Given the description of an element on the screen output the (x, y) to click on. 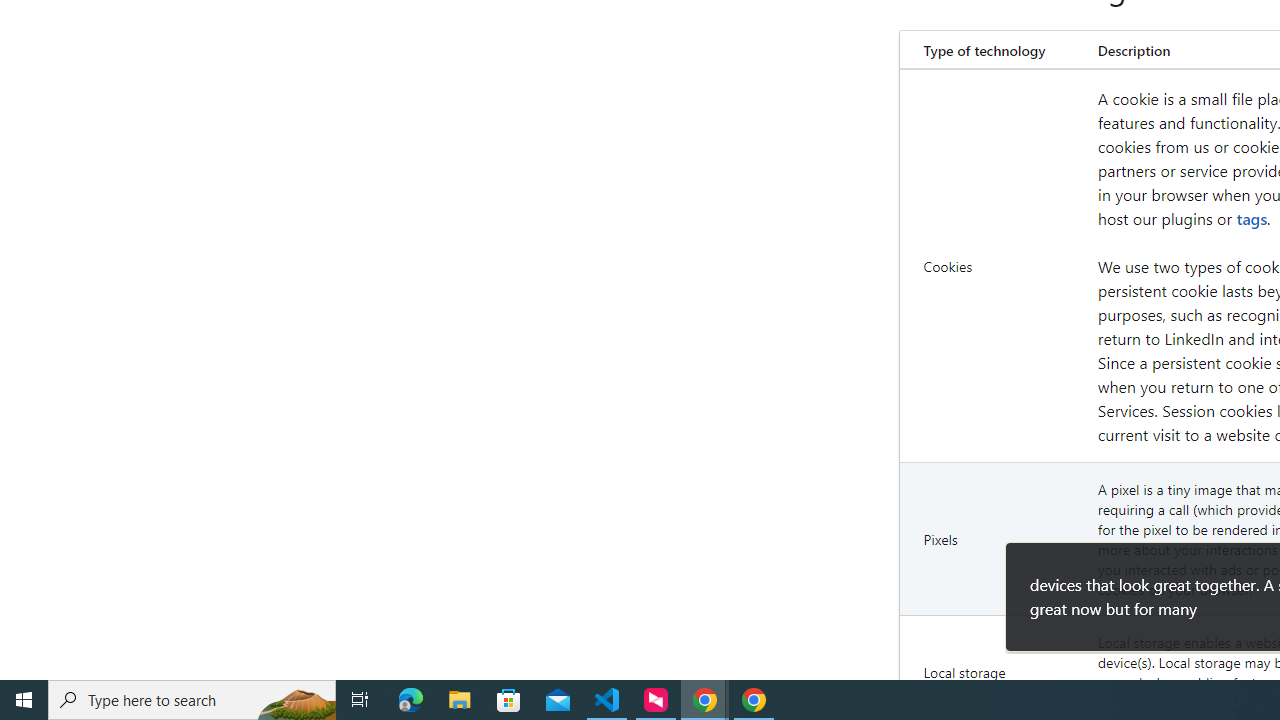
tags (1252, 217)
